Given the description of an element on the screen output the (x, y) to click on. 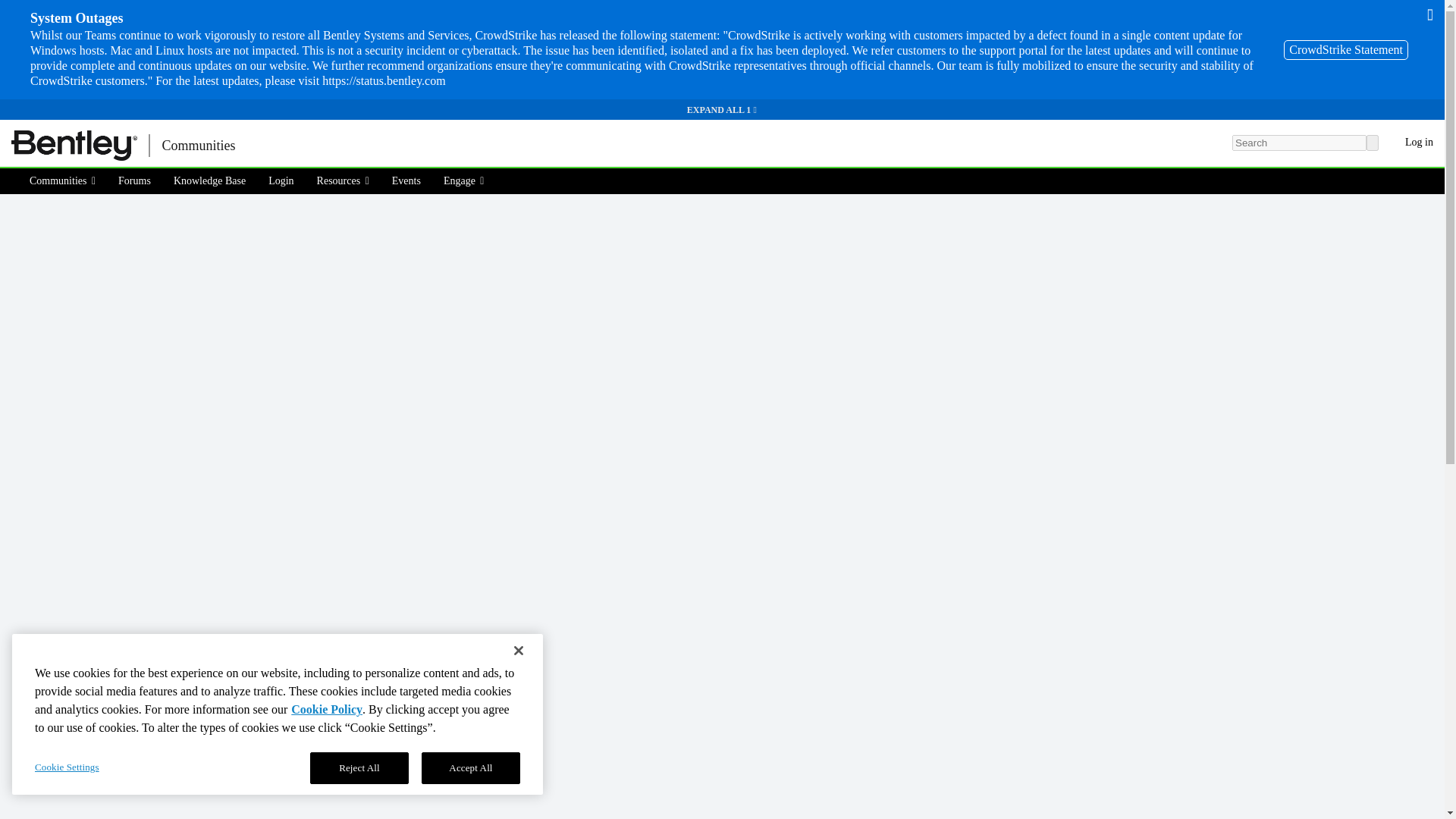
Events (406, 181)
Knowledge Base (209, 181)
CrowdStrike Statement (1345, 48)
Dismiss announcement System Outages  (1430, 14)
Forums (133, 181)
Communities (197, 145)
CrowdStrike Statement (1345, 48)
Communities (67, 181)
Toggle navigation (273, 145)
Skip to main content (8, 130)
Resources (342, 181)
Login (280, 181)
Engage (464, 181)
